Given the description of an element on the screen output the (x, y) to click on. 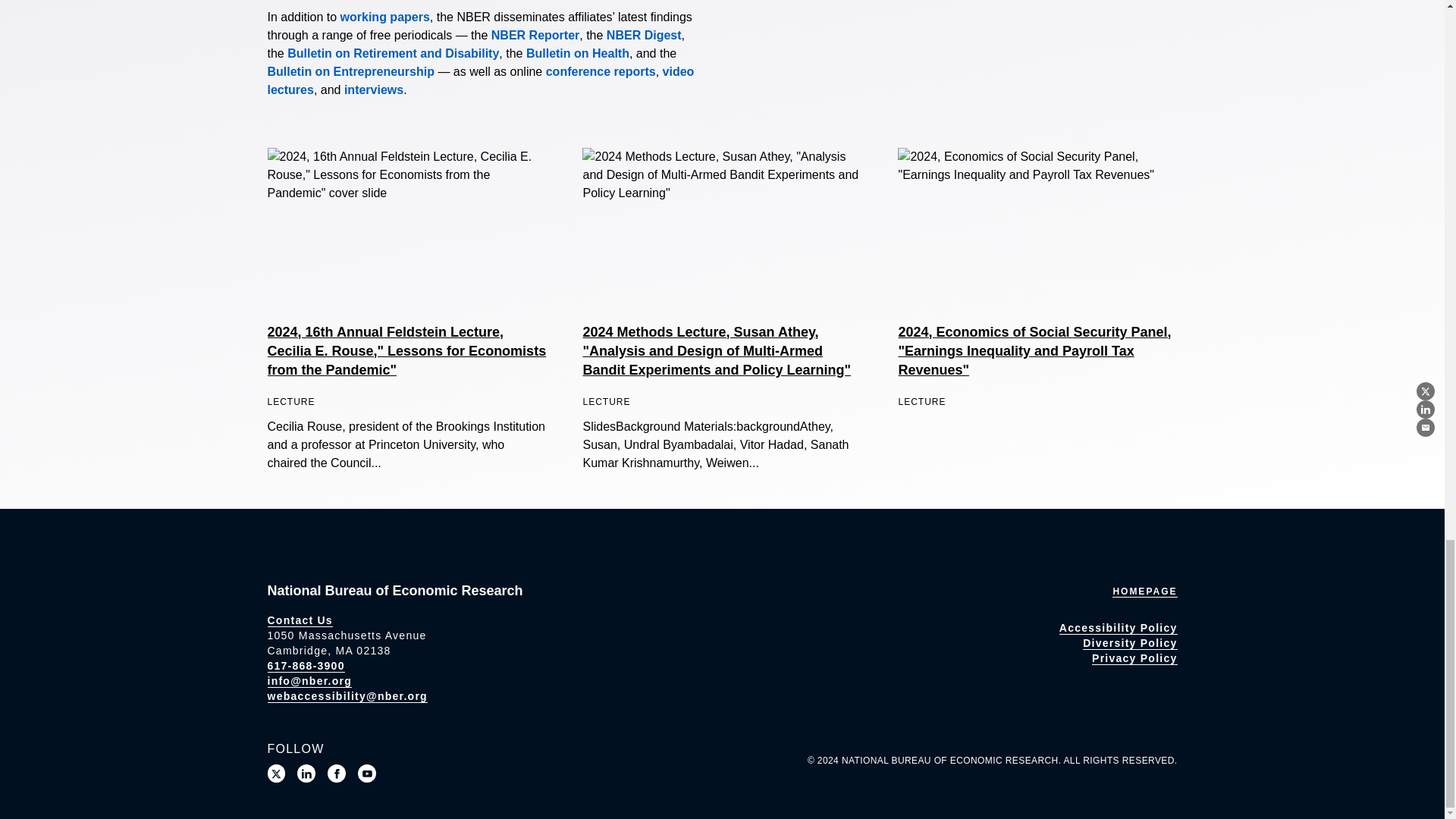
Research Spotlights (373, 89)
Working Papers (384, 16)
Lectures (480, 80)
Conferences (601, 71)
